Given the description of an element on the screen output the (x, y) to click on. 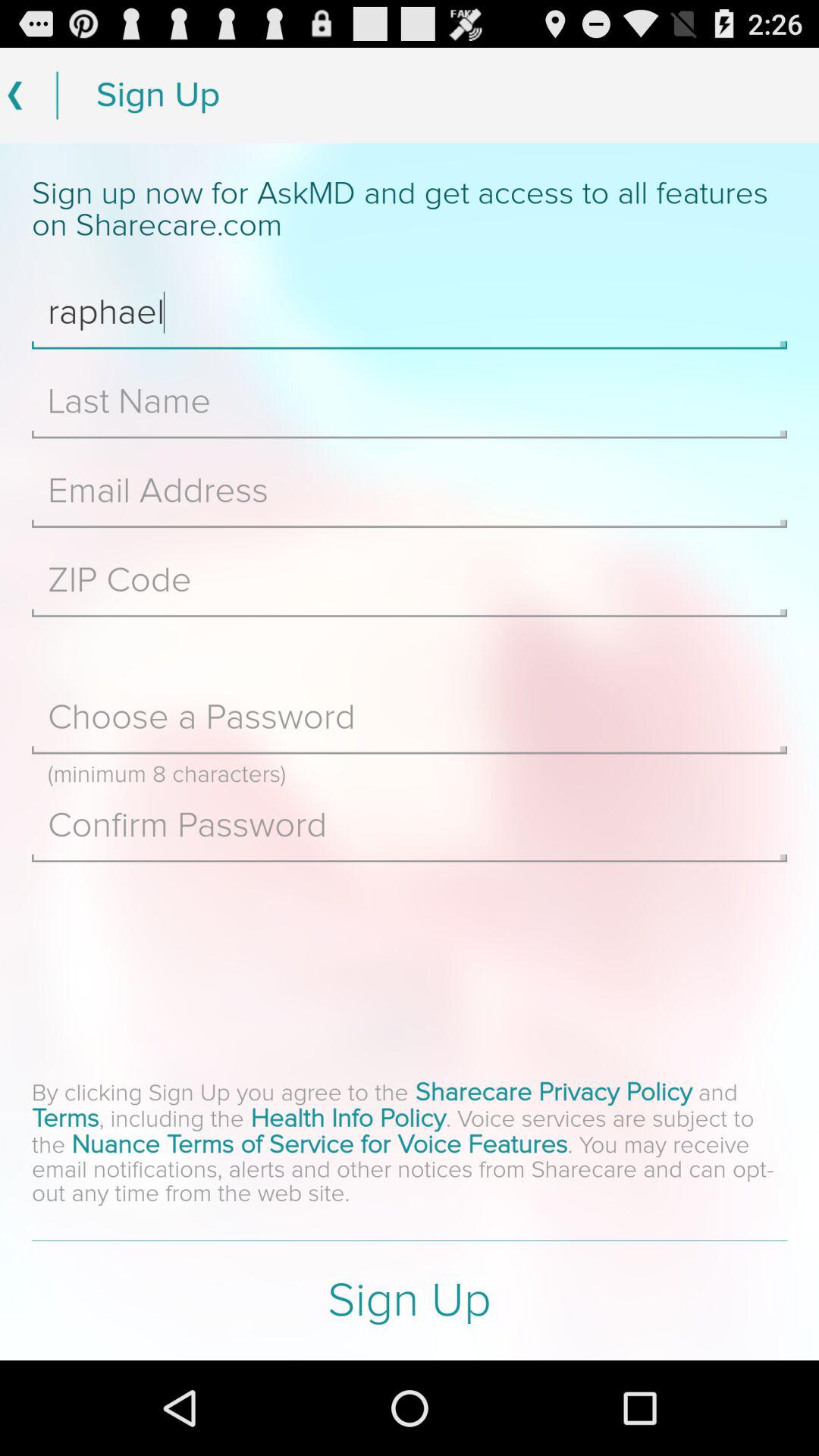
enter text (409, 580)
